Given the description of an element on the screen output the (x, y) to click on. 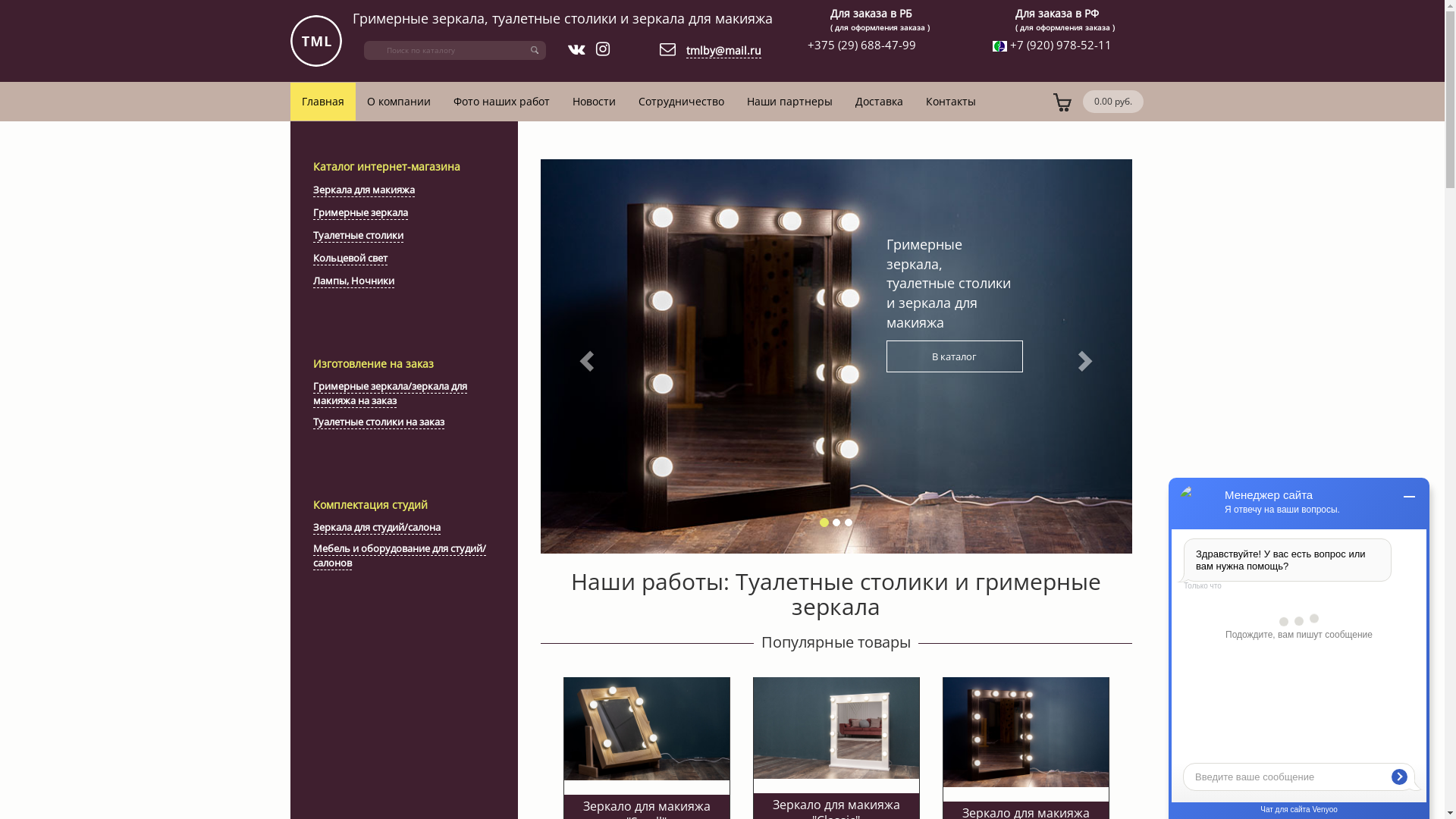
Next Element type: text (1087, 356)
+375 (29) 688-47-99 Element type: text (861, 44)
+7 (920) 978-52-11 Element type: text (1059, 44)
tmlby@mail.ru Element type: text (723, 50)
Previous Element type: text (583, 356)
